Given the description of an element on the screen output the (x, y) to click on. 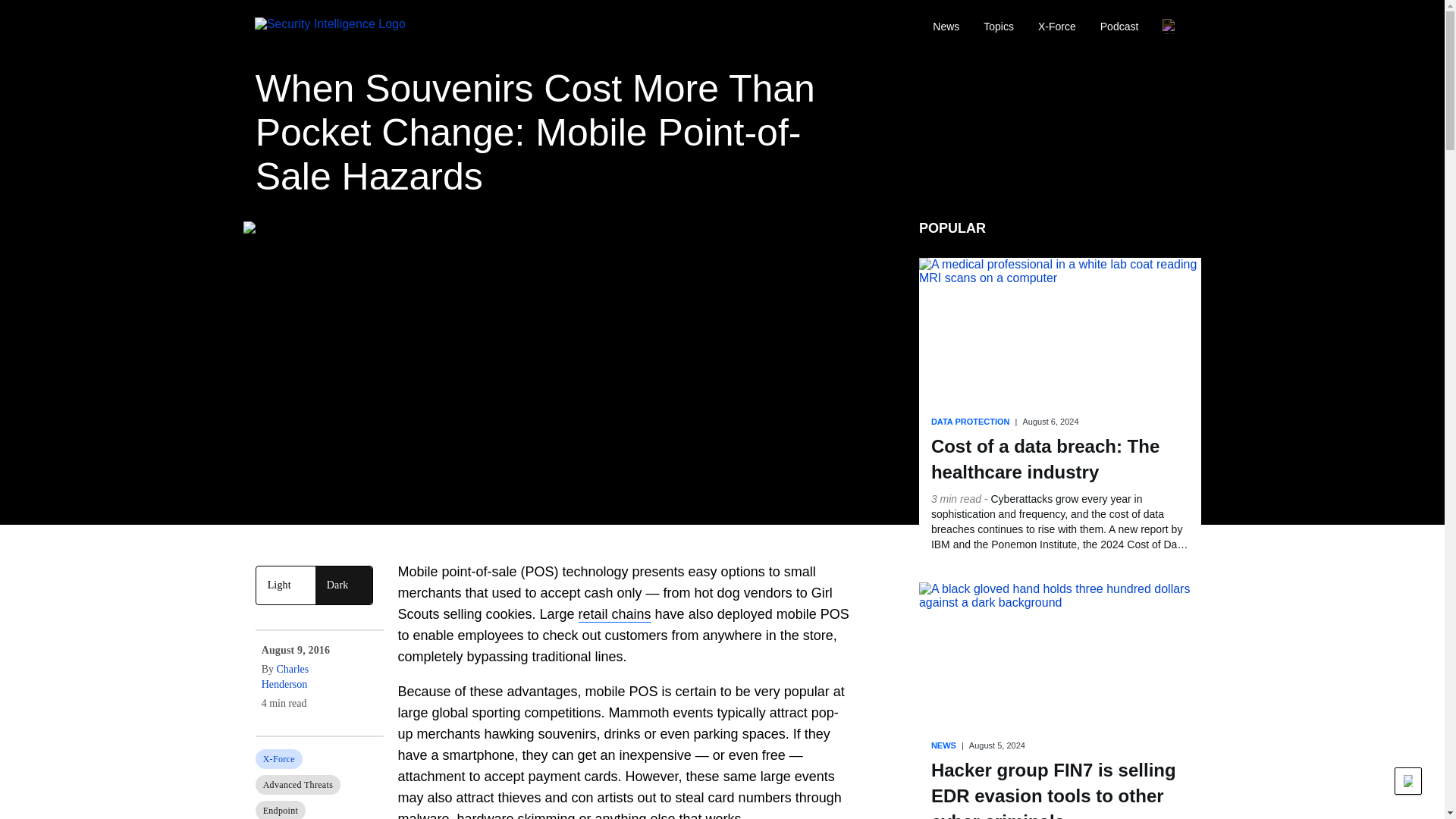
Topics (998, 26)
Security Intelligence (341, 27)
Dark (343, 585)
Podcast (1119, 26)
X-Force (1056, 26)
News (945, 26)
submit (1112, 27)
reset (1177, 27)
Light (285, 585)
